Given the description of an element on the screen output the (x, y) to click on. 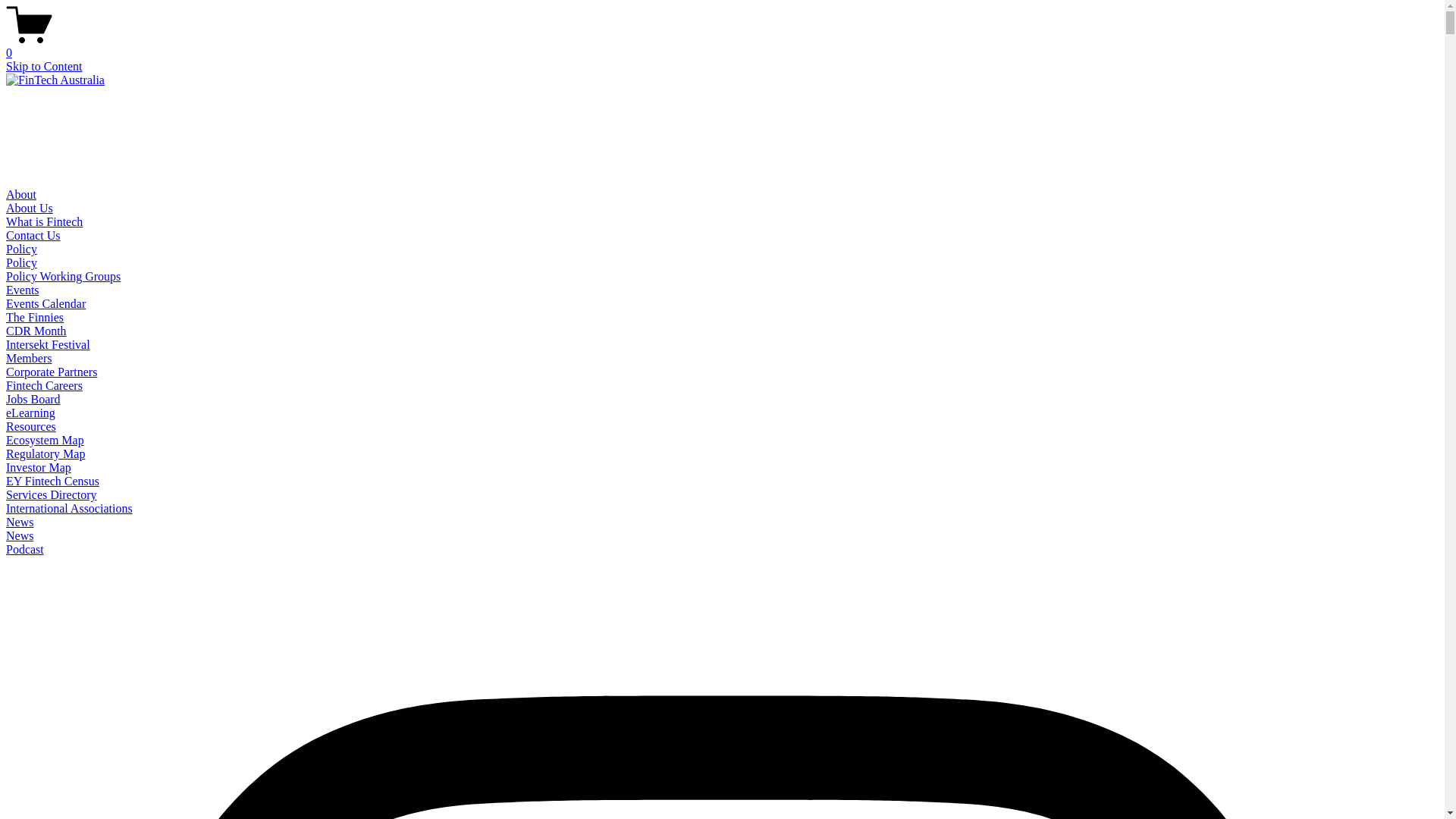
Policy Element type: text (21, 262)
Corporate Partners Element type: text (51, 371)
Regulatory Map Element type: text (45, 453)
EY Fintech Census Element type: text (52, 480)
News Element type: text (19, 521)
Resources Element type: text (31, 426)
Members Element type: text (28, 357)
CDR Month Element type: text (36, 330)
Jobs Board Element type: text (33, 398)
Services Directory Element type: text (51, 494)
0 Element type: text (722, 45)
Contact Us Element type: text (33, 235)
Policy Element type: text (21, 248)
Ecosystem Map Element type: text (45, 439)
International Associations Element type: text (69, 508)
Skip to Content Element type: text (43, 65)
About Us Element type: text (29, 207)
Fintech Careers Element type: text (44, 385)
Events Calendar Element type: text (45, 303)
Investor Map Element type: text (38, 467)
What is Fintech Element type: text (44, 221)
Events Element type: text (22, 289)
Policy Working Groups Element type: text (63, 275)
Intersekt Festival Element type: text (48, 344)
News Element type: text (19, 535)
Podcast Element type: text (24, 548)
eLearning Element type: text (30, 412)
About Element type: text (21, 194)
The Finnies Element type: text (34, 316)
